Given the description of an element on the screen output the (x, y) to click on. 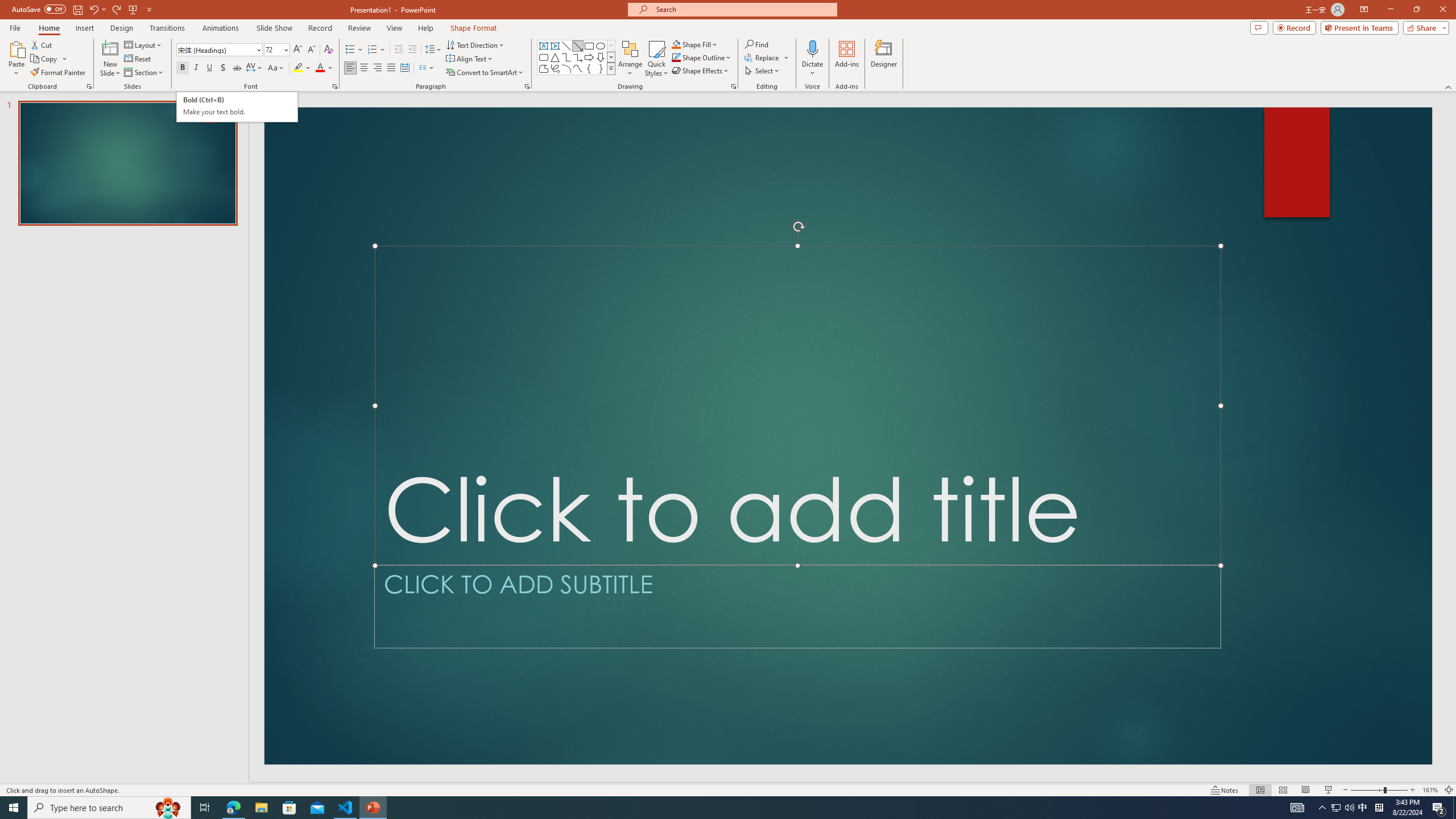
Shape Fill (694, 44)
Text Box (543, 45)
Curve (577, 68)
Row Down (611, 56)
Quick Styles (656, 58)
Paste (16, 58)
Shape Outline Blue, Accent 1 (675, 56)
Slide (127, 163)
Class: MsoCommandBar (728, 789)
Justify (390, 67)
Decrease Font Size (310, 49)
Arrow: Down (600, 57)
